Given the description of an element on the screen output the (x, y) to click on. 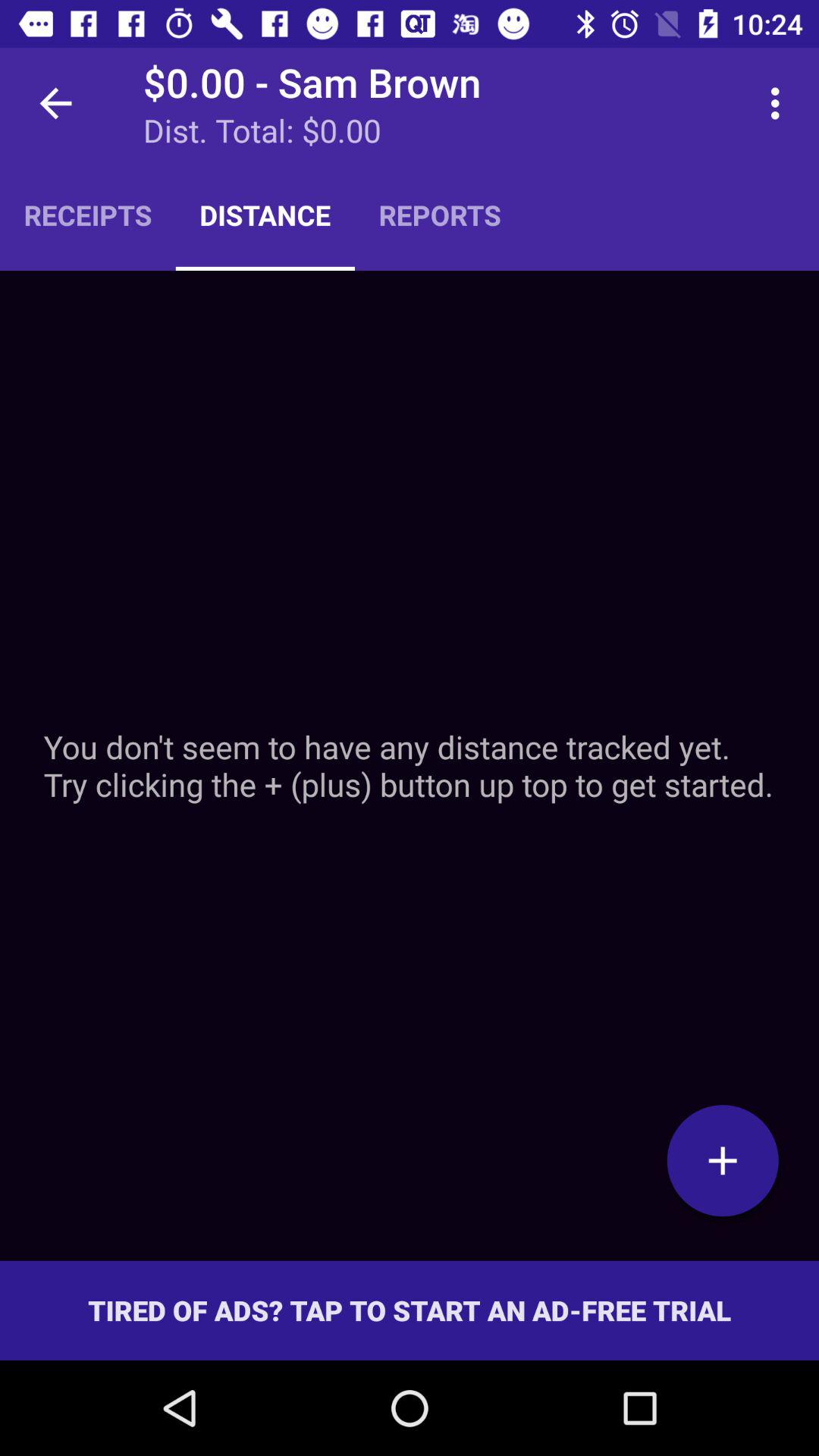
press icon to the right of reports item (779, 103)
